Given the description of an element on the screen output the (x, y) to click on. 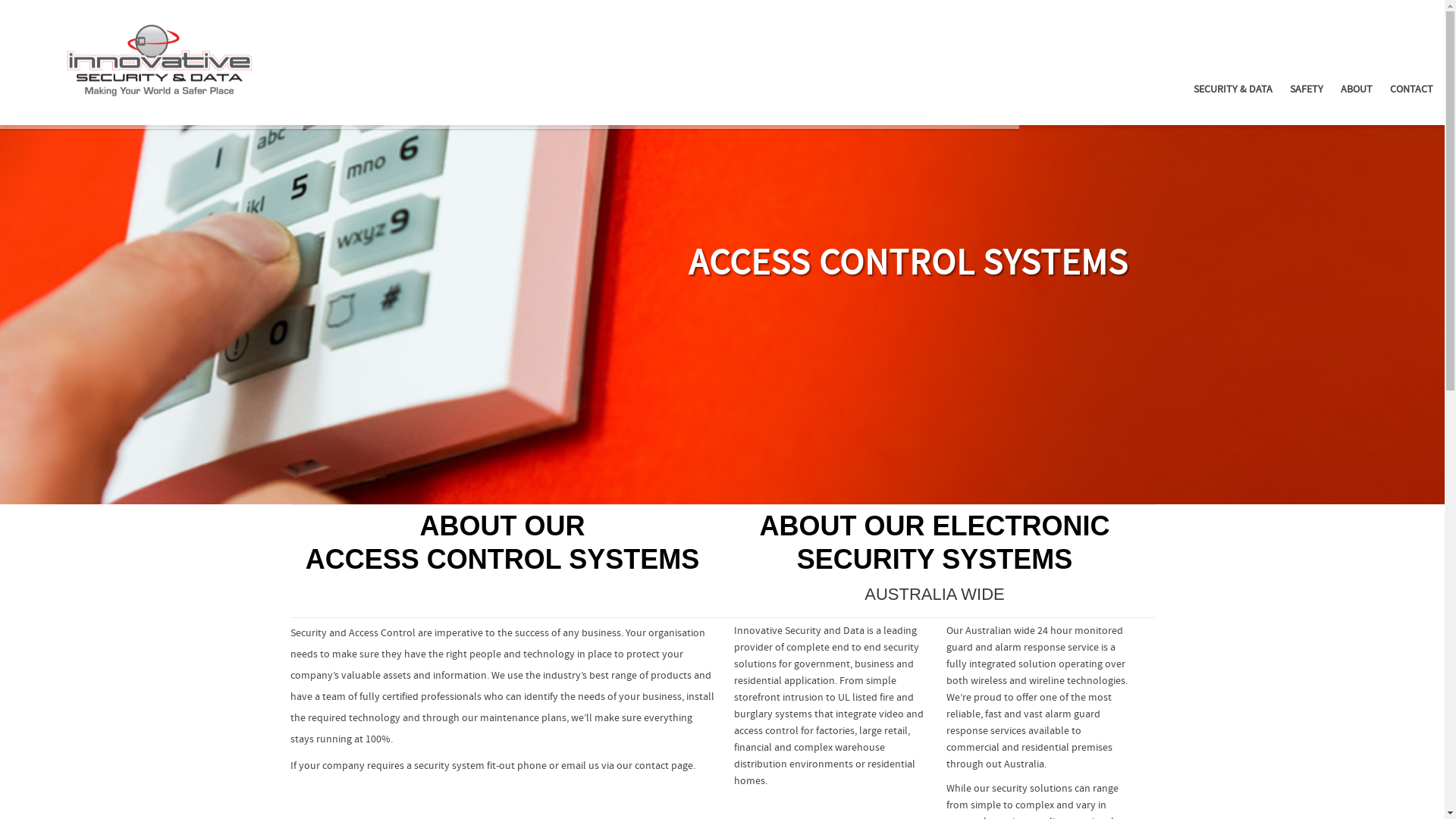
ABOUT Element type: text (1356, 89)
CONTACT Element type: text (1411, 89)
SECURITY & DATA Element type: text (1232, 89)
SAFETY Element type: text (1306, 89)
